Given the description of an element on the screen output the (x, y) to click on. 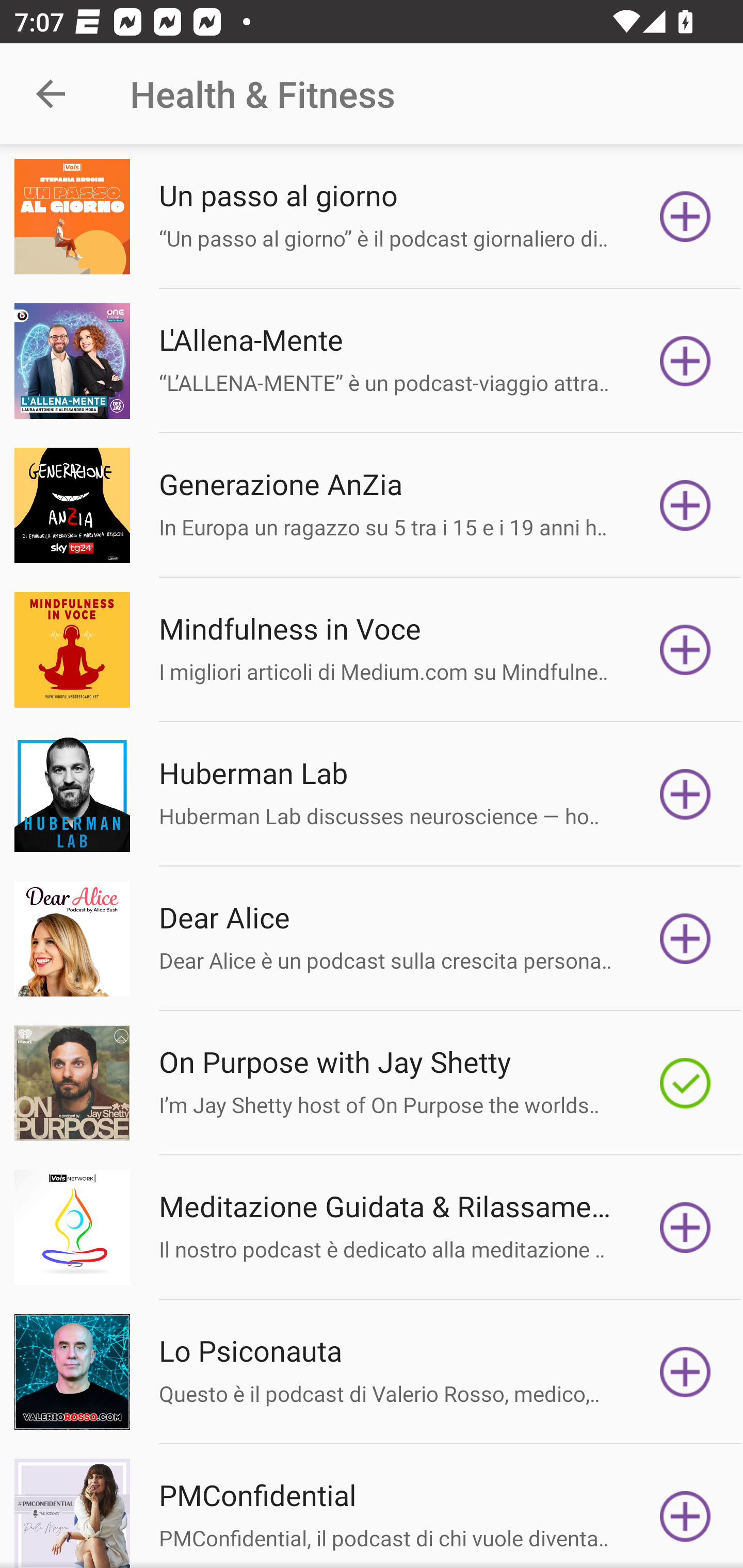
Navigate up (50, 93)
Subscribe (685, 216)
Subscribe (685, 360)
Subscribe (685, 505)
Subscribe (685, 649)
Subscribe (685, 793)
Subscribe (685, 939)
Subscribed (685, 1083)
Subscribe (685, 1227)
Subscribe (685, 1371)
Subscribe (685, 1513)
